Given the description of an element on the screen output the (x, y) to click on. 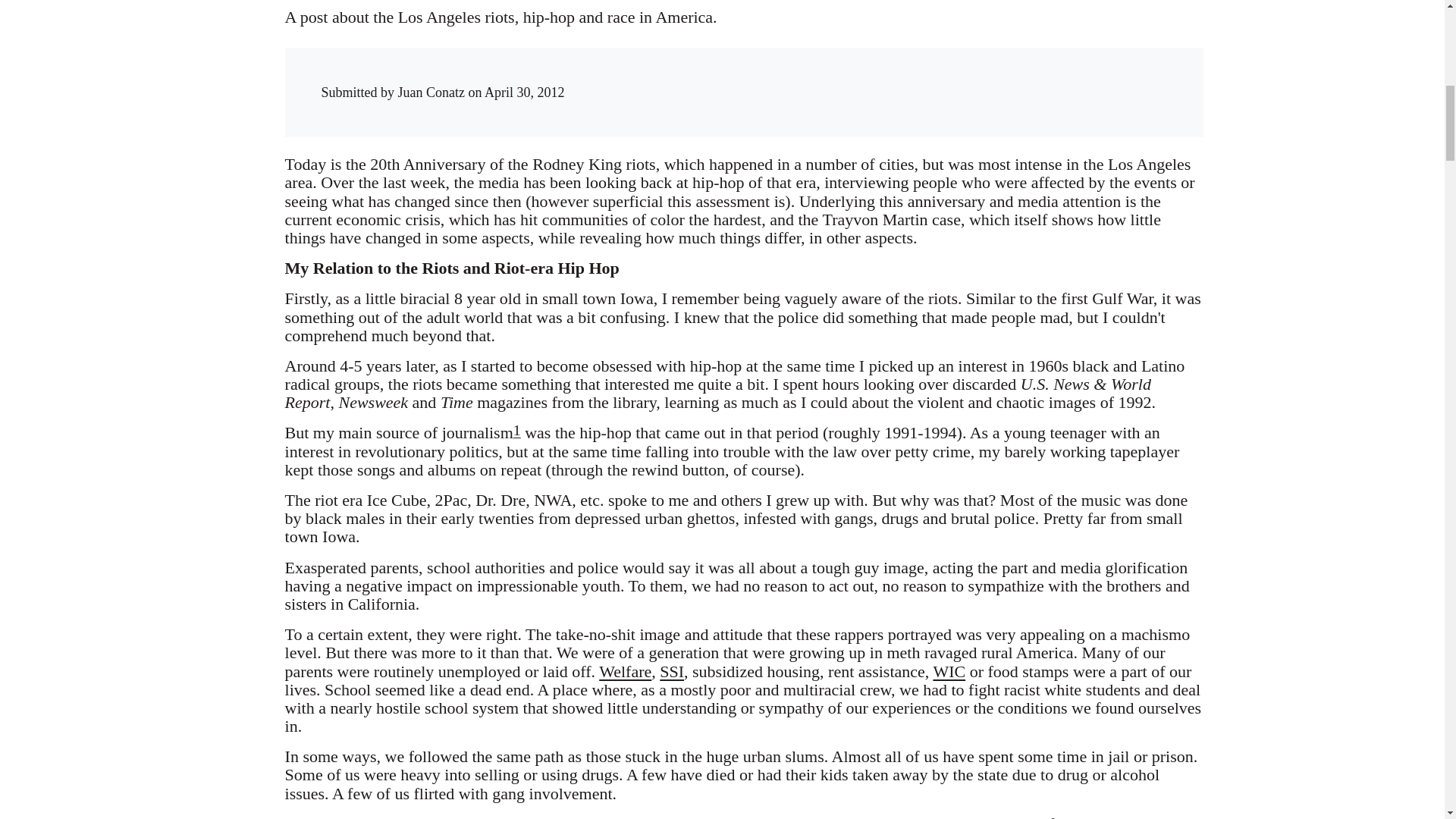
1 (517, 429)
Share to Facebook (914, 78)
WIC (949, 670)
SSI (671, 670)
Welfare (624, 670)
Share to Twitter (945, 78)
Share to Reddit (975, 78)
